Given the description of an element on the screen output the (x, y) to click on. 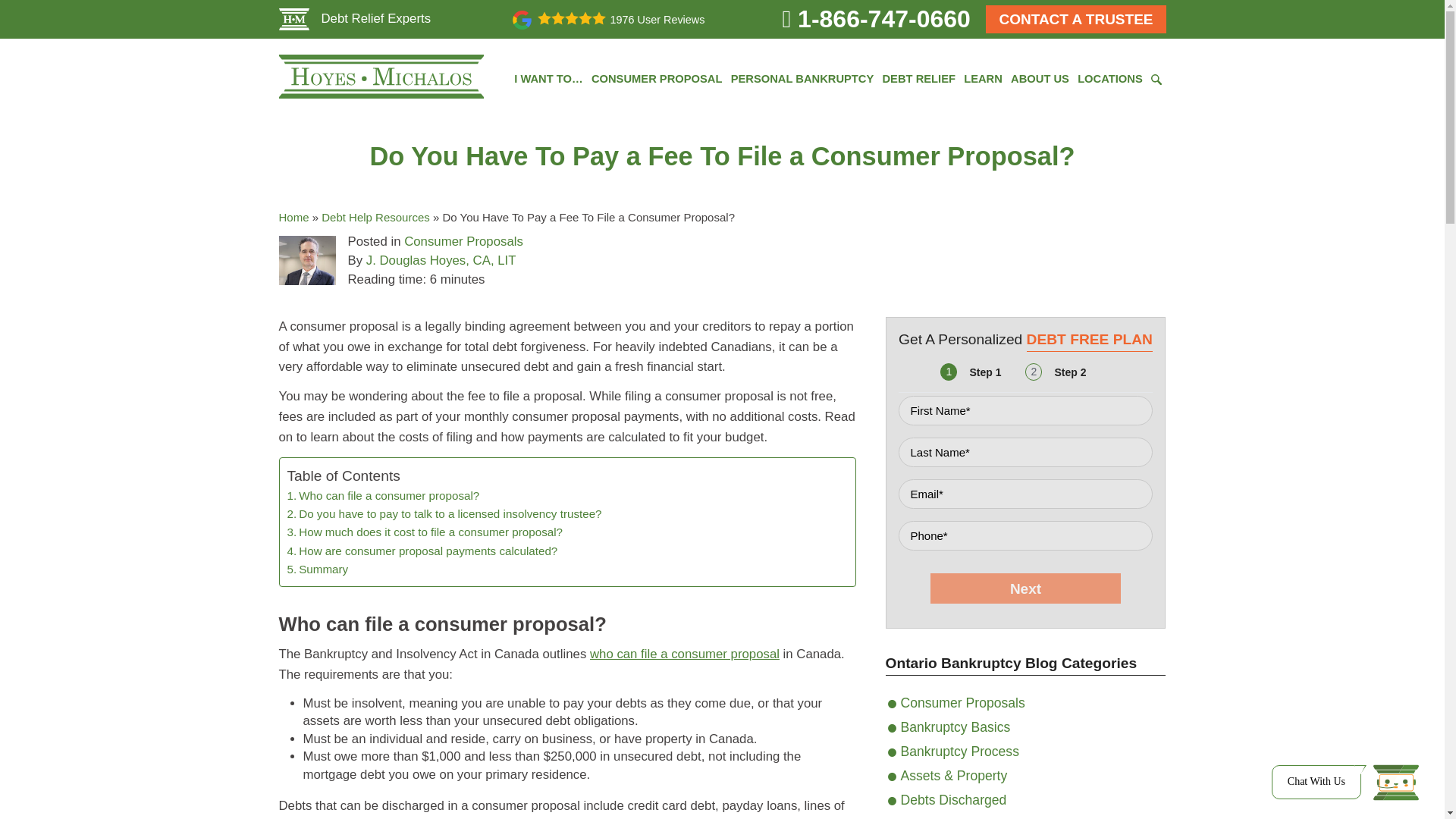
LOCATIONS (1109, 78)
How much does it cost to file a consumer proposal? (424, 532)
Posts by J. Douglas Hoyes, CA, LIT (441, 260)
DEBT RELIEF (918, 78)
Summary (316, 569)
Debt Relief Experts (354, 18)
LEARN (983, 78)
Who can file a consumer proposal? (382, 495)
1-866-747-0660 (877, 18)
Home (293, 216)
